Given the description of an element on the screen output the (x, y) to click on. 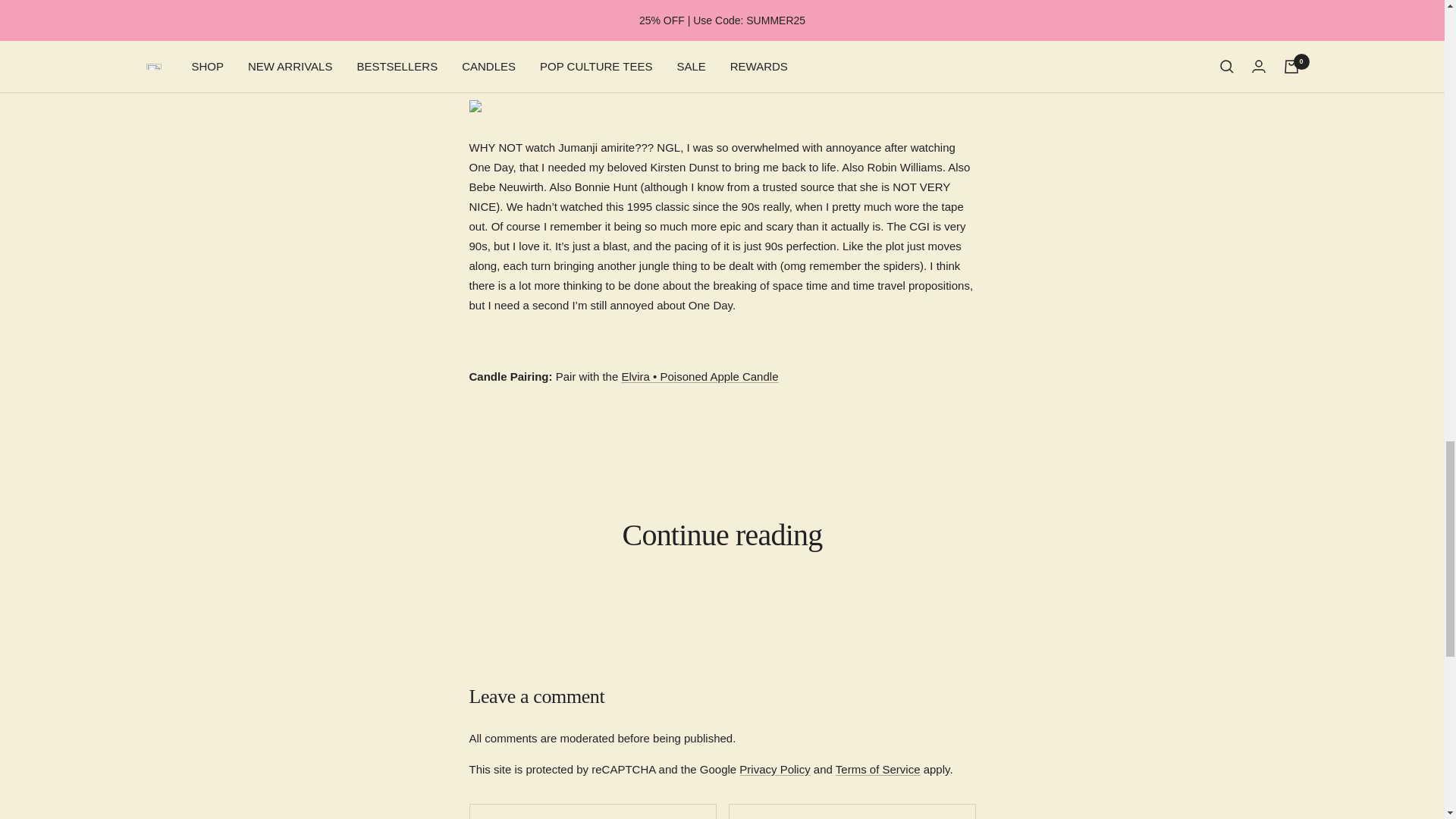
jumanji on hulu (721, 105)
elvira poisoned apple (699, 376)
jumanji on hulu (639, 51)
